Given the description of an element on the screen output the (x, y) to click on. 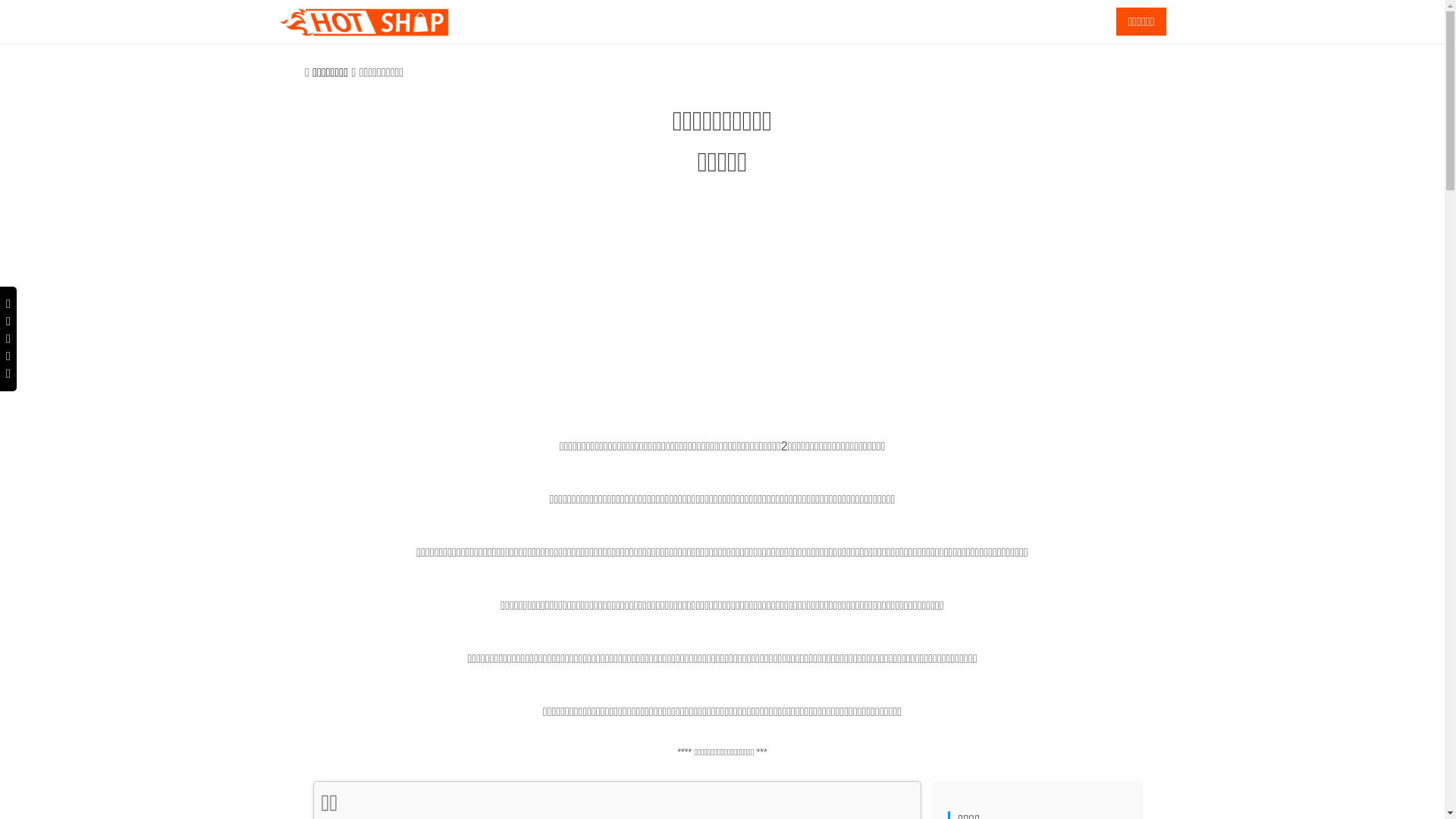
Advertisement Element type: hover (721, 311)
